Given the description of an element on the screen output the (x, y) to click on. 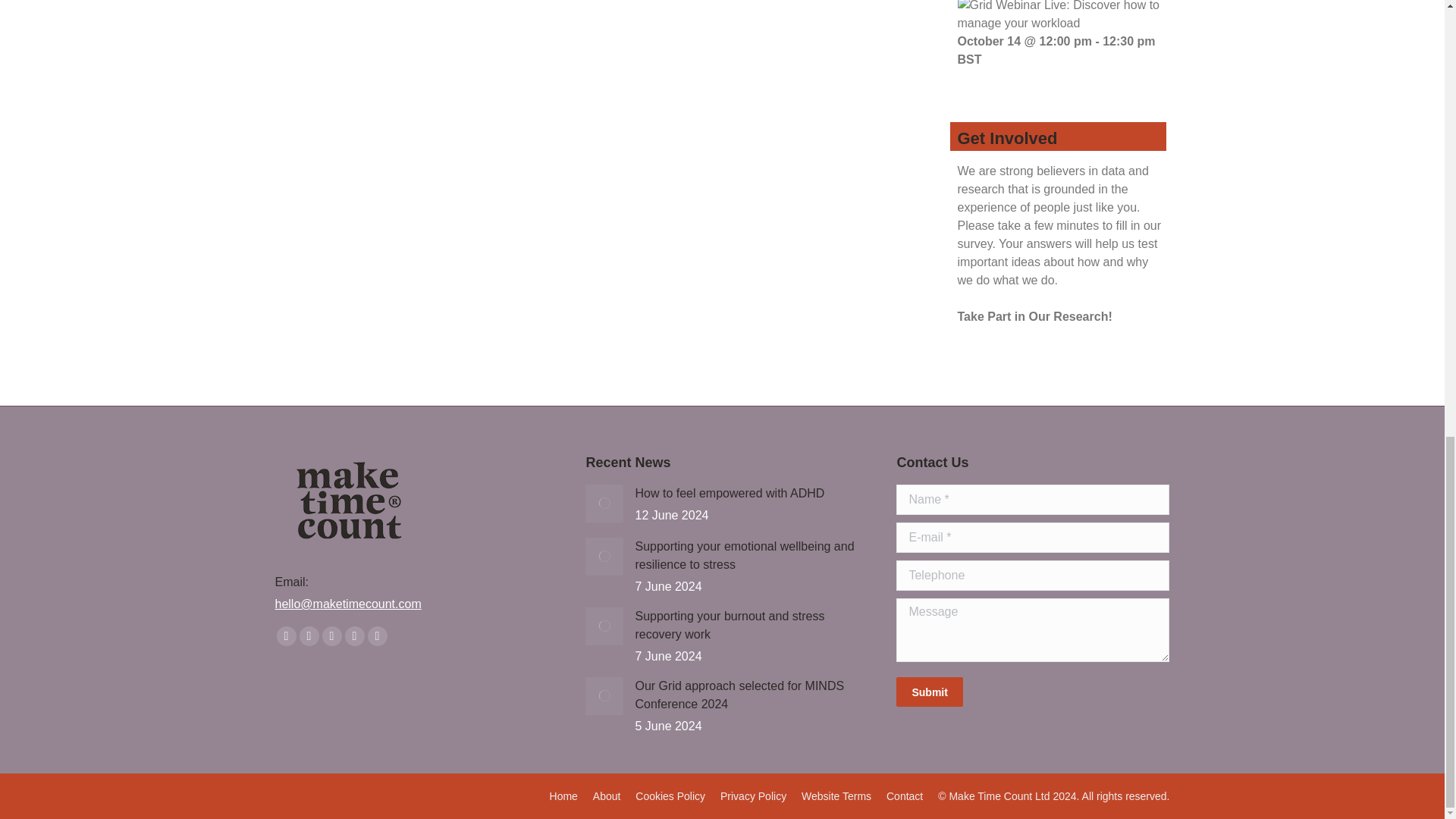
X page opens in new window (308, 636)
Instagram page opens in new window (376, 636)
Linkedin page opens in new window (353, 636)
submit (1005, 693)
Facebook page opens in new window (285, 636)
YouTube page opens in new window (330, 636)
